Given the description of an element on the screen output the (x, y) to click on. 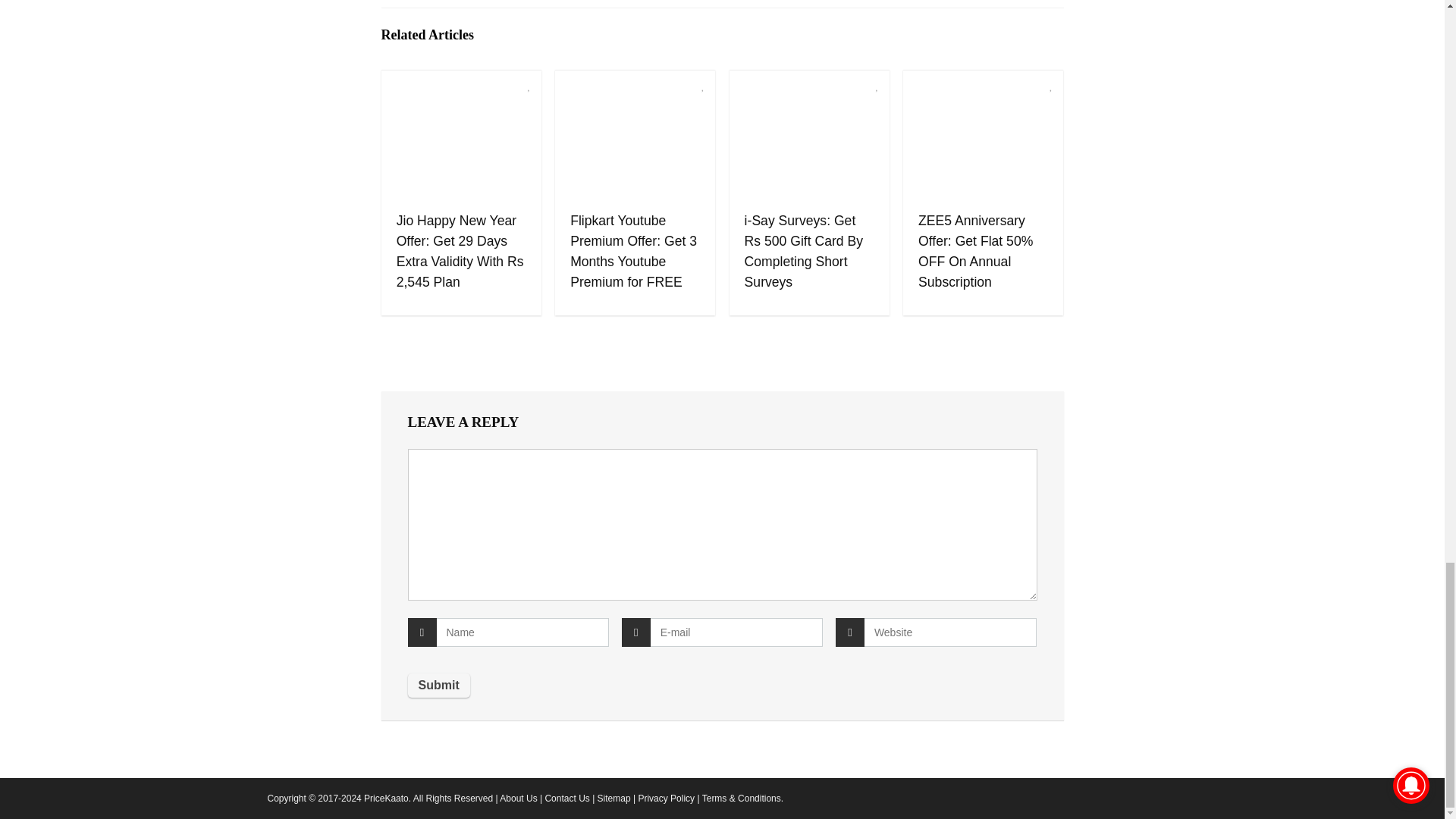
Submit (438, 685)
